Given the description of an element on the screen output the (x, y) to click on. 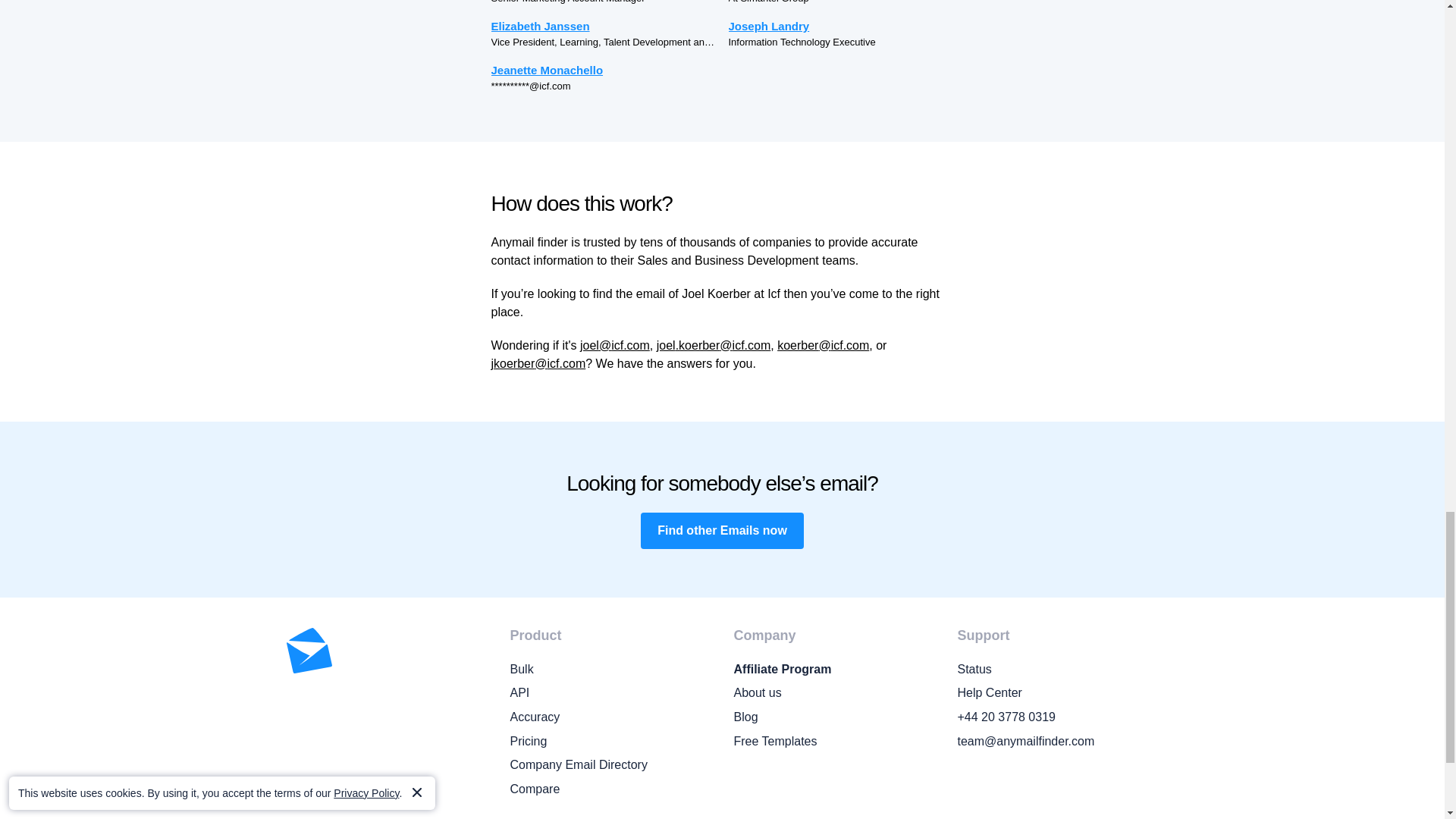
Elizabeth Janssen (604, 26)
Pricing (609, 741)
Joseph Landry (840, 26)
Jeanette Monachello (604, 69)
Find other Emails now (721, 530)
Bulk (609, 669)
Accuracy (609, 717)
API (609, 692)
